Given the description of an element on the screen output the (x, y) to click on. 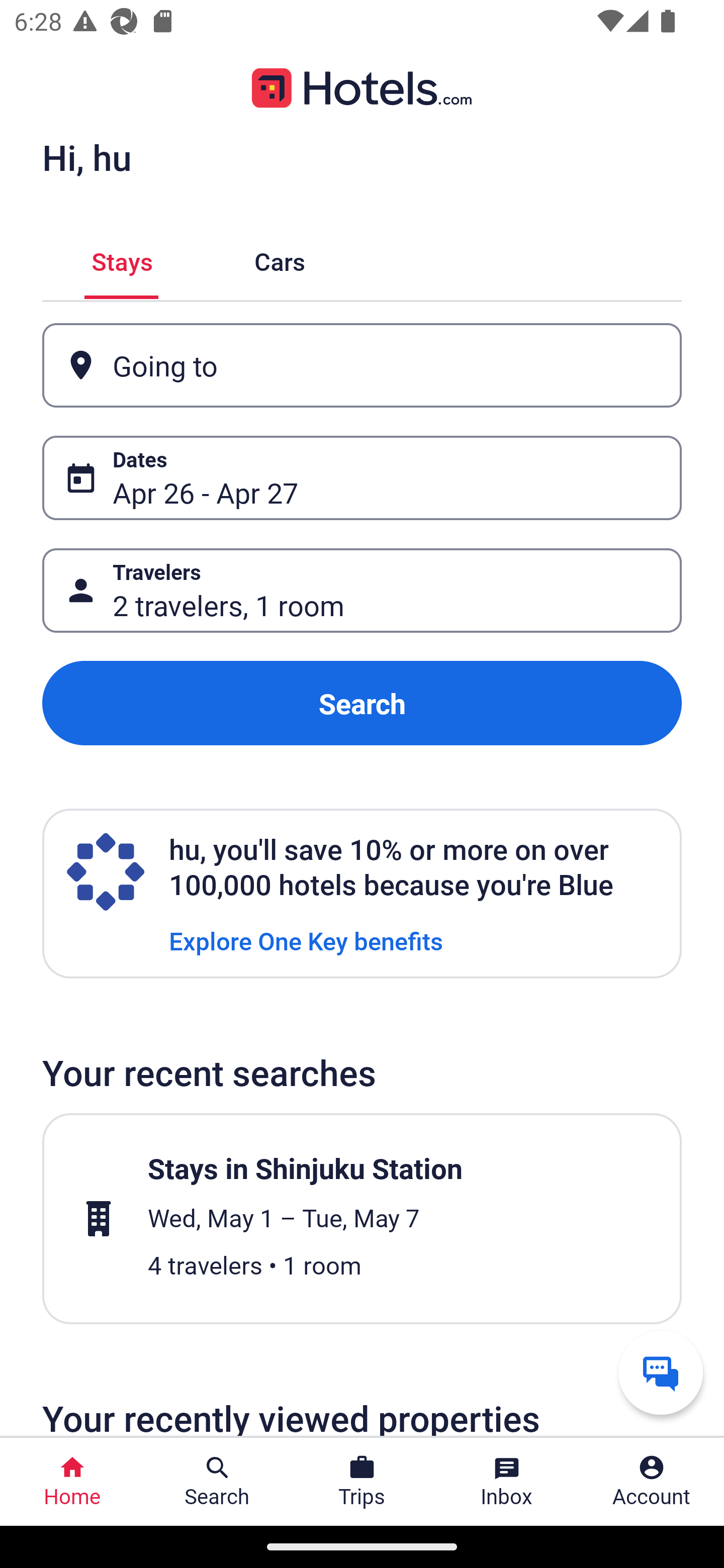
Hi, hu (86, 156)
Cars (279, 259)
Going to Button (361, 365)
Dates Button Apr 26 - Apr 27 (361, 477)
Travelers Button 2 travelers, 1 room (361, 590)
Search (361, 702)
Get help from a virtual agent (660, 1371)
Search Search Button (216, 1481)
Trips Trips Button (361, 1481)
Inbox Inbox Button (506, 1481)
Account Profile. Button (651, 1481)
